Given the description of an element on the screen output the (x, y) to click on. 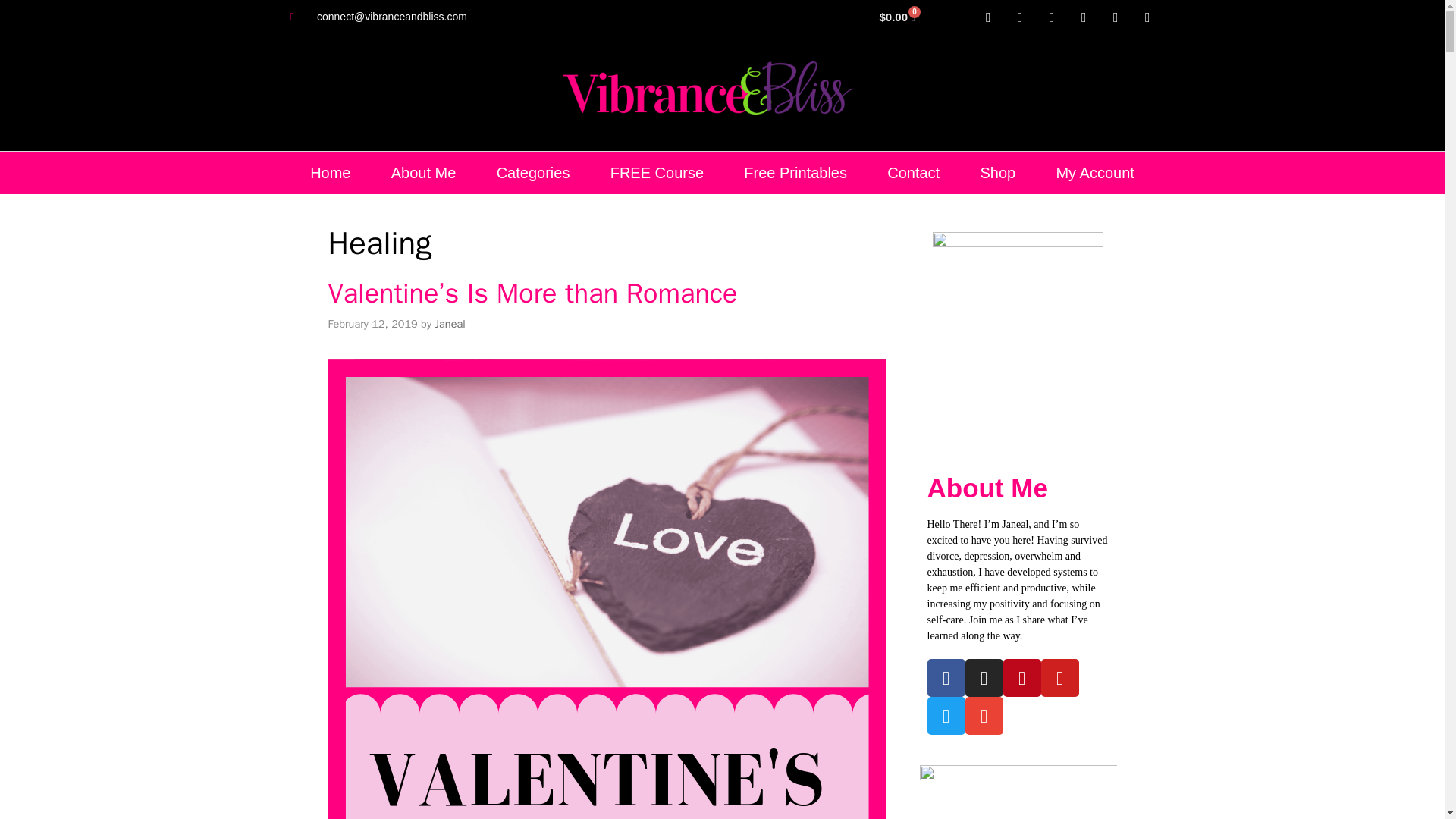
Home (330, 172)
About Me (423, 172)
Shop (997, 172)
FREE Course (656, 172)
Contact (913, 172)
Categories (532, 172)
Janeal (448, 323)
Free Printables (795, 172)
My Account (1094, 172)
View all posts by Janeal (448, 323)
